Given the description of an element on the screen output the (x, y) to click on. 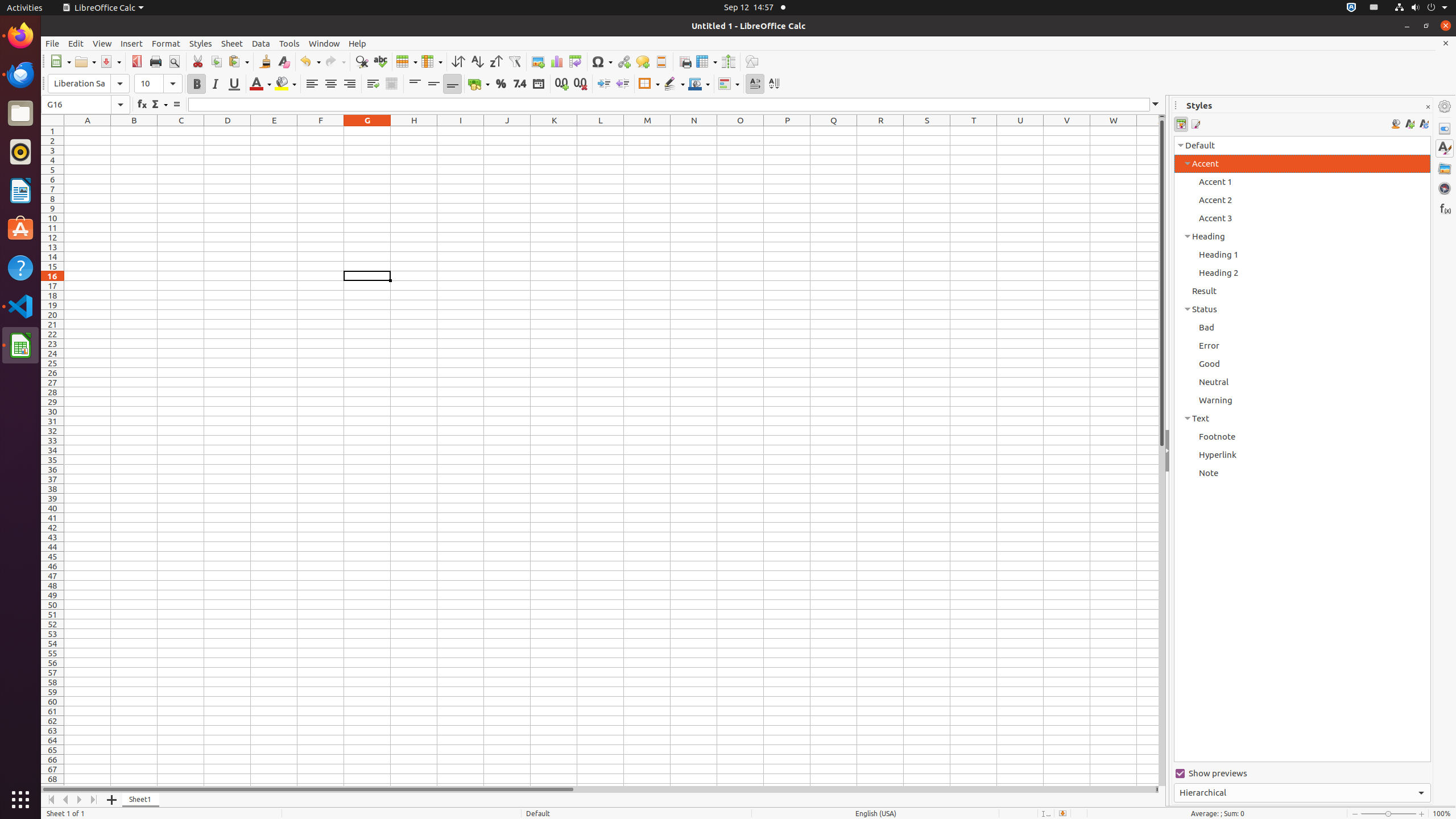
Properties Element type: radio-button (1444, 128)
Visual Studio Code Element type: push-button (20, 306)
Currency Element type: push-button (478, 83)
LibreOffice Writer Element type: push-button (20, 190)
Show Applications Element type: toggle-button (20, 799)
